Given the description of an element on the screen output the (x, y) to click on. 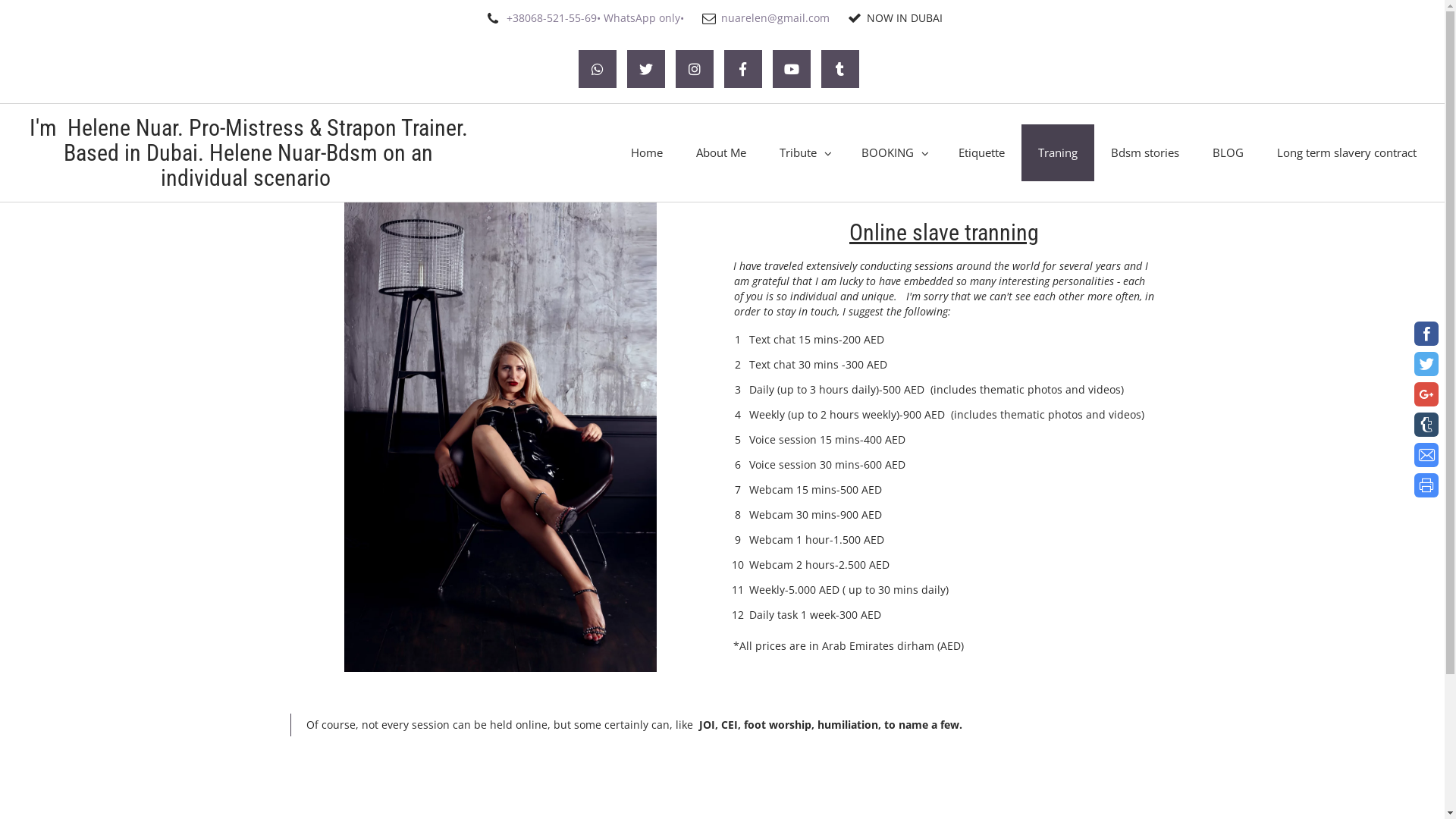
Long term slavery contract Element type: text (1346, 151)
Bdsm stories Element type: text (1144, 151)
BLOG Element type: text (1227, 151)
BOOKING Element type: text (892, 151)
Traning Element type: text (1057, 151)
Share to Twitter Element type: hover (1426, 363)
Share to undefined Element type: hover (1426, 394)
Print this page Element type: hover (1426, 485)
Home Element type: text (646, 151)
Etiquette Element type: text (981, 151)
Share to Facebook Element type: hover (1426, 333)
nuarelen@gmail.com Element type: text (774, 17)
Share via E-mail Element type: hover (1426, 454)
About Me Element type: text (720, 151)
Share to Tumblr Element type: hover (1426, 424)
Tribute Element type: text (803, 151)
